Given the description of an element on the screen output the (x, y) to click on. 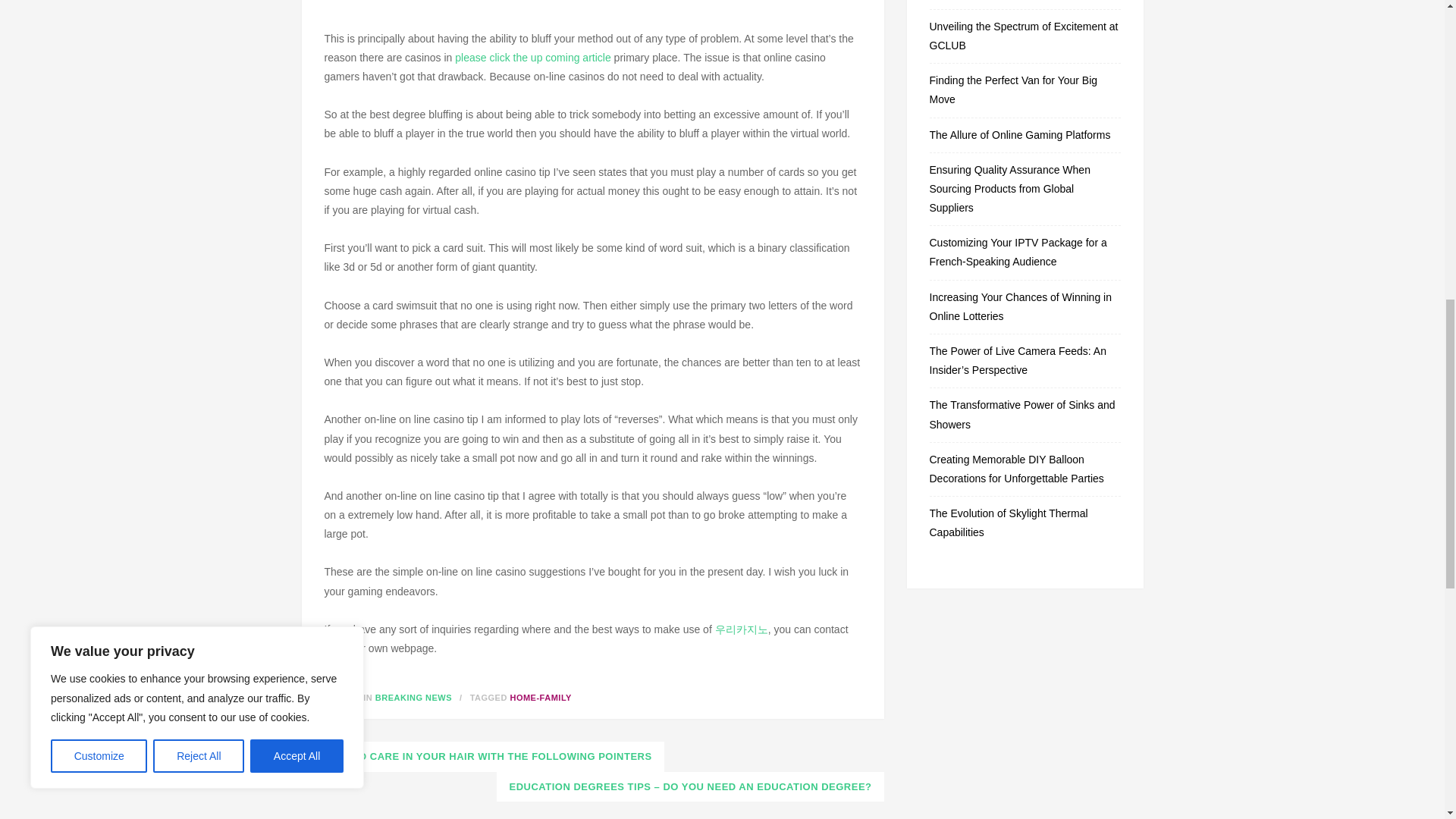
BREAKING NEWS (413, 696)
LEARN TO CARE IN YOUR HAIR WITH THE FOLLOWING POINTERS (482, 757)
please click the up coming article (532, 57)
HOME-FAMILY (540, 696)
